Given the description of an element on the screen output the (x, y) to click on. 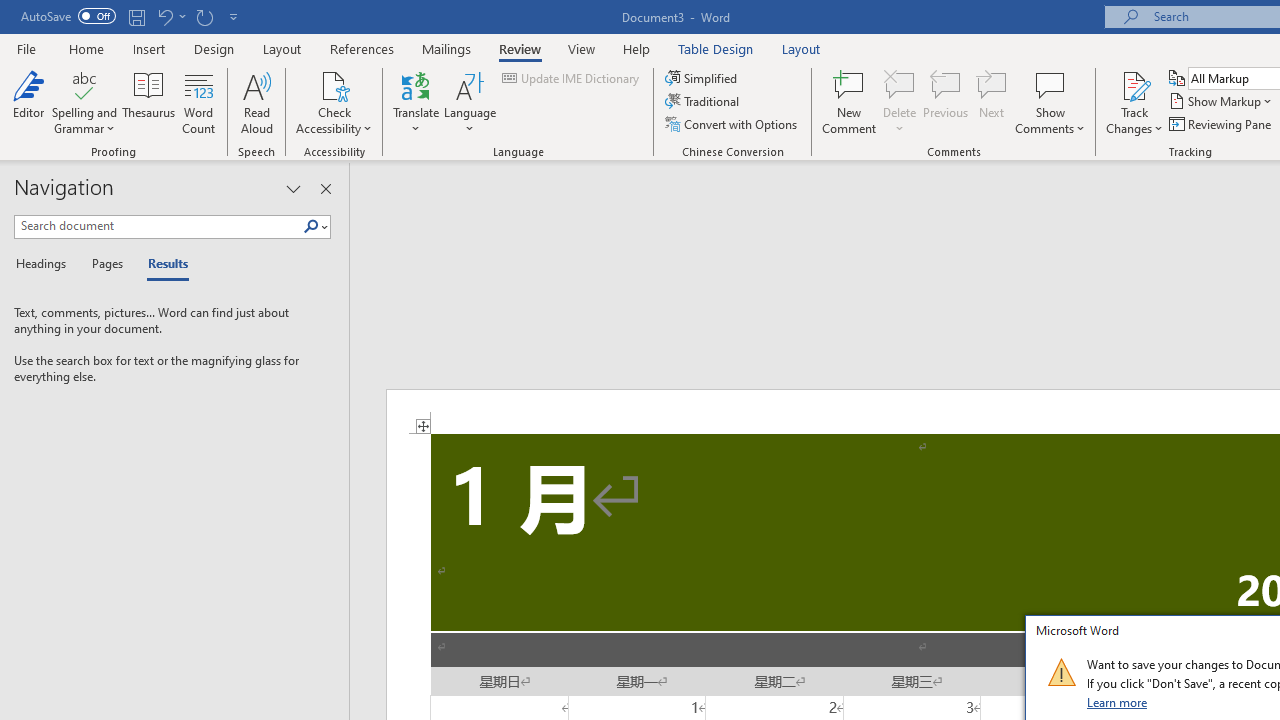
Check Accessibility (334, 102)
Show Comments (1050, 84)
Save (136, 15)
Mailings (447, 48)
Spelling and Grammar (84, 84)
Delete (900, 102)
Undo Apply Quick Style (164, 15)
Home (86, 48)
View (582, 48)
Thesaurus... (148, 102)
Update IME Dictionary... (572, 78)
Reviewing Pane (1221, 124)
Traditional (703, 101)
Search document (157, 226)
